Given the description of an element on the screen output the (x, y) to click on. 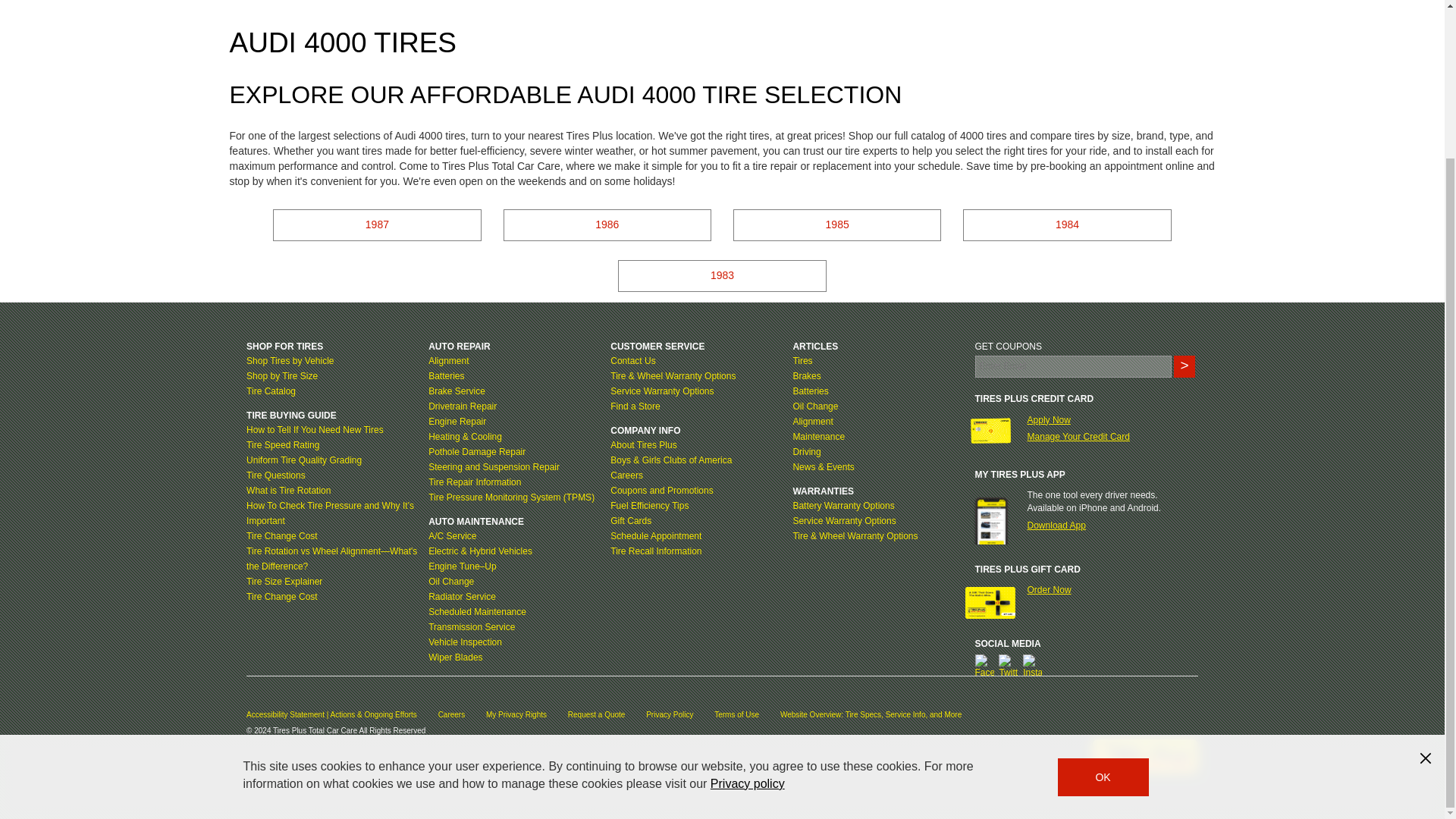
agree button (1102, 591)
Enter Email (1073, 366)
Privacy policy (747, 598)
close button (1425, 572)
